Given the description of an element on the screen output the (x, y) to click on. 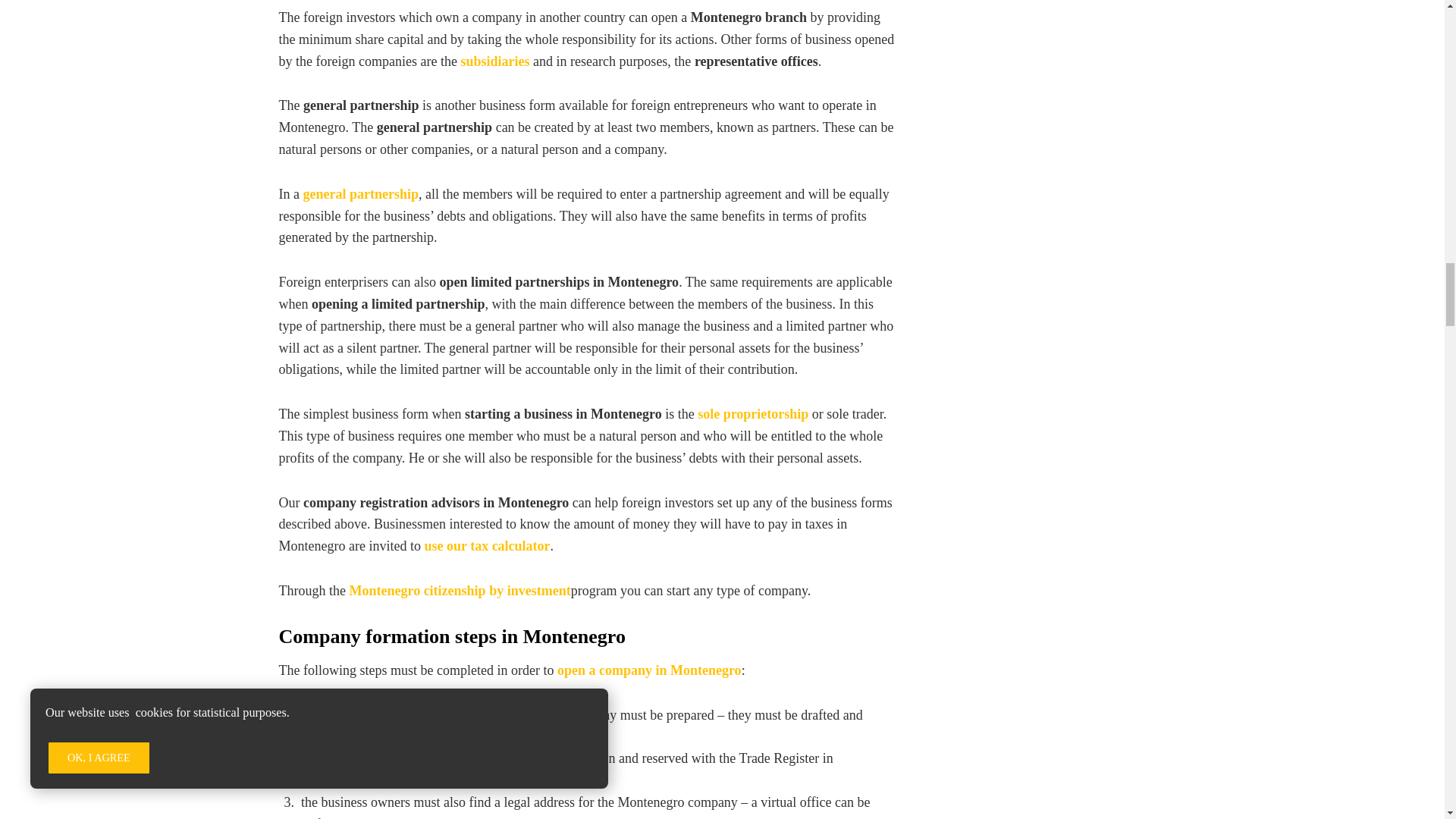
subsidiaries (494, 61)
general partnership (360, 193)
sole proprietorship (752, 413)
use our tax calculator (486, 545)
